Given the description of an element on the screen output the (x, y) to click on. 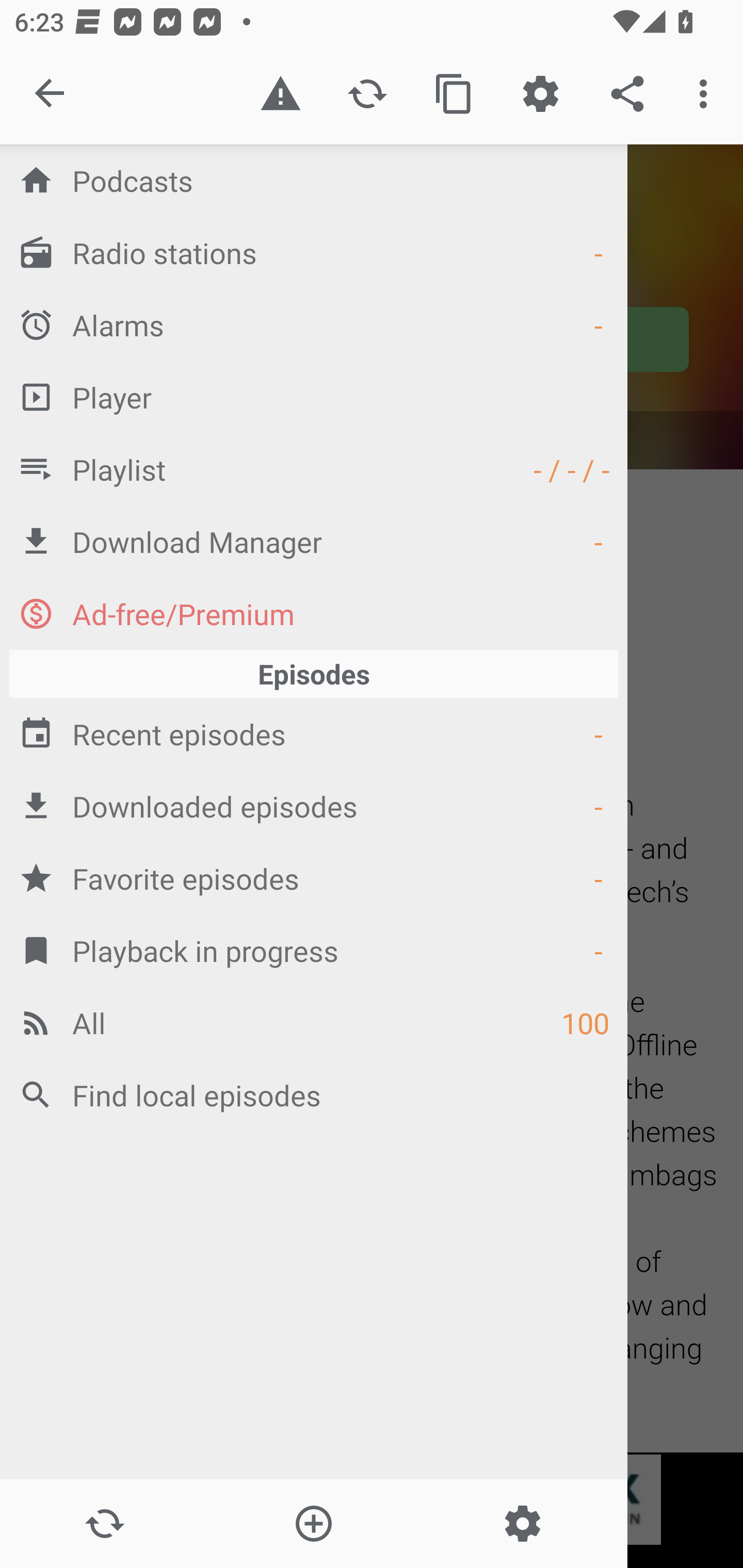
Close navigation sidebar (50, 93)
Report inappropriate content (280, 93)
Refresh podcast description (366, 93)
Copy feed url to clipboard (453, 93)
Custom Settings (540, 93)
Share the podcast (626, 93)
More options (706, 93)
Podcasts (313, 180)
Radio stations  -  (313, 252)
Alarms  -  (313, 324)
Player (313, 396)
Playlist - / - / - (313, 468)
Download Manager  -  (313, 540)
Ad-free/Premium (313, 613)
Recent episodes  -  (313, 733)
Downloaded episodes  -  (313, 805)
Favorite episodes  -  (313, 878)
Playback in progress  -  (313, 950)
All 100 (313, 1022)
Find local episodes (313, 1094)
Update (104, 1523)
Add new Podcast (312, 1523)
Settings (522, 1523)
